Given the description of an element on the screen output the (x, y) to click on. 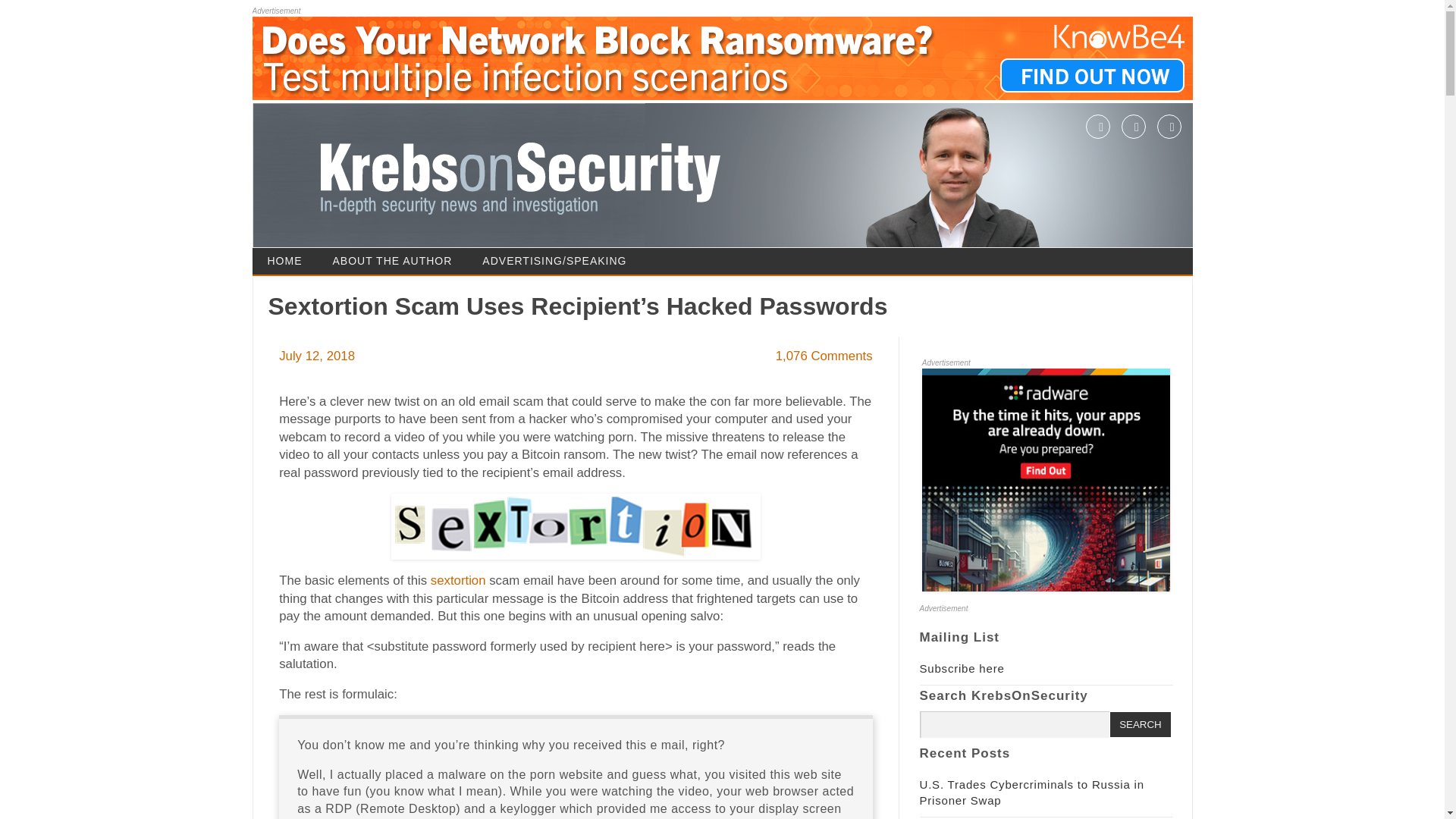
Skip to content (764, 253)
Search (1139, 724)
sextortion (458, 580)
1,076 Comments (824, 355)
Skip to content (764, 253)
HOME (284, 261)
ABOUT THE AUTHOR (392, 261)
